Given the description of an element on the screen output the (x, y) to click on. 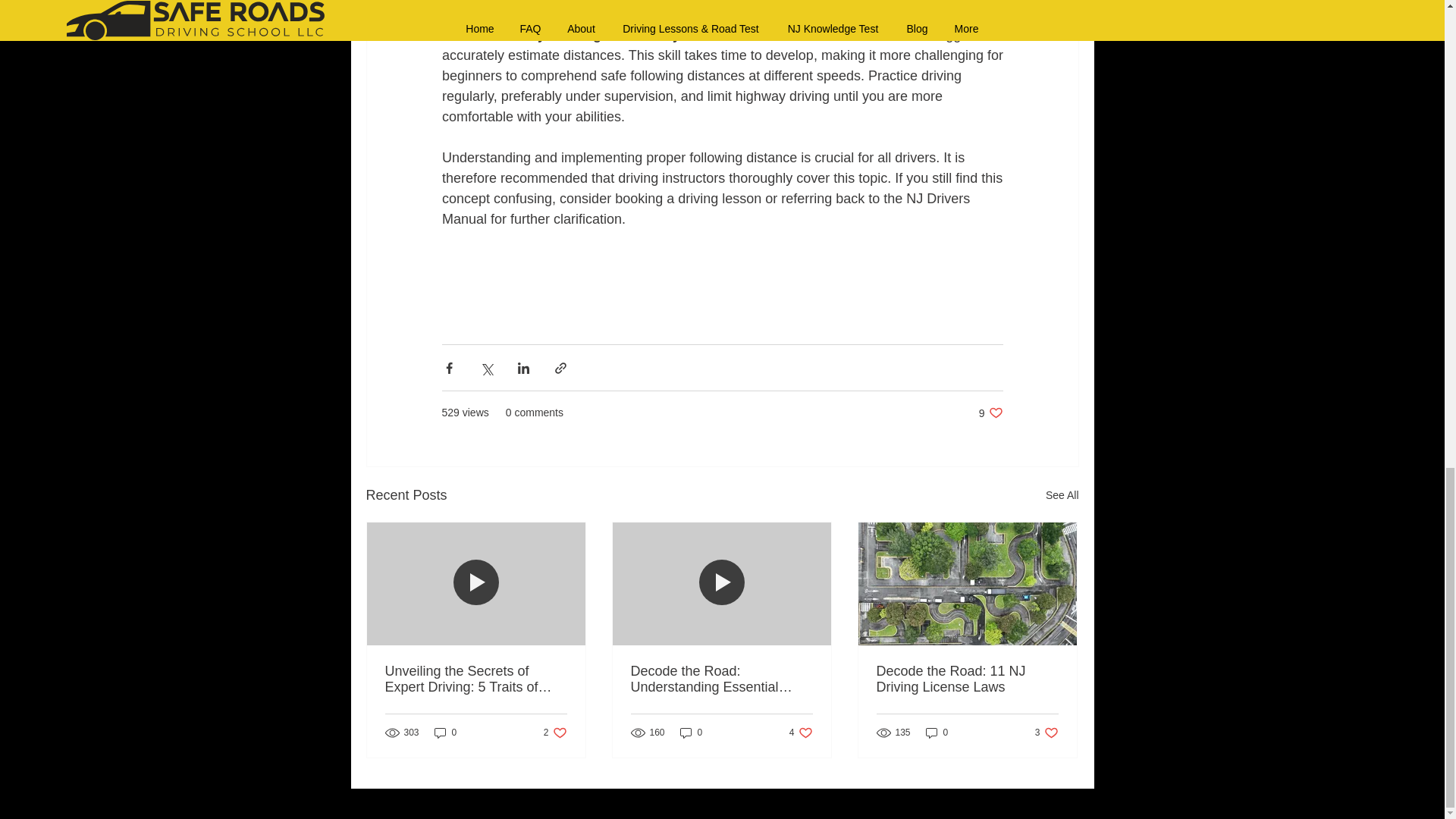
See All (1061, 495)
Decode the Road: Understanding Essential Road Signs (555, 732)
0 (721, 679)
0 (445, 732)
0 (1046, 732)
